Given the description of an element on the screen output the (x, y) to click on. 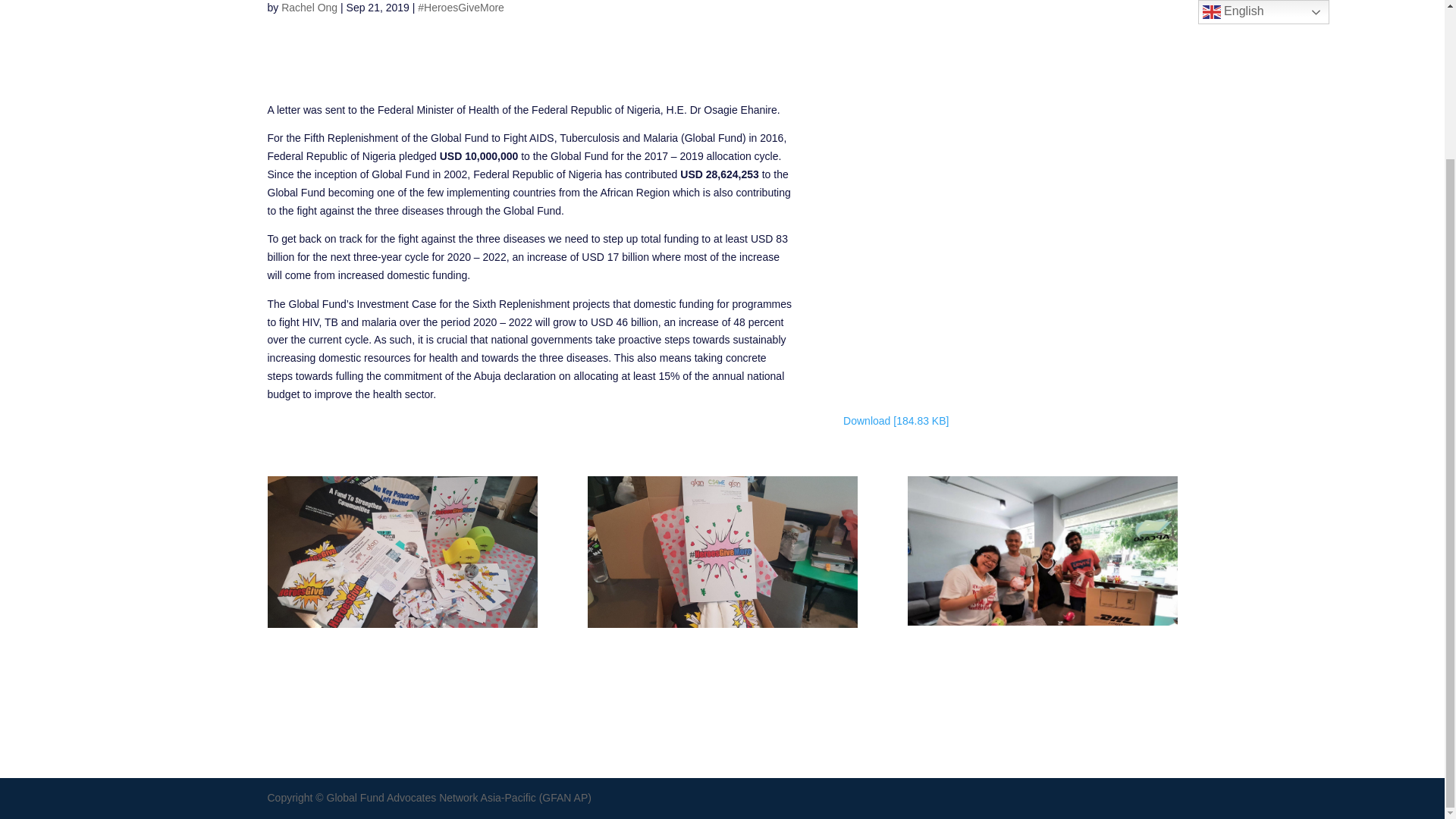
Embedded Document (1009, 262)
Posts by Rachel Ong (309, 7)
Rachel Ong (309, 7)
